Given the description of an element on the screen output the (x, y) to click on. 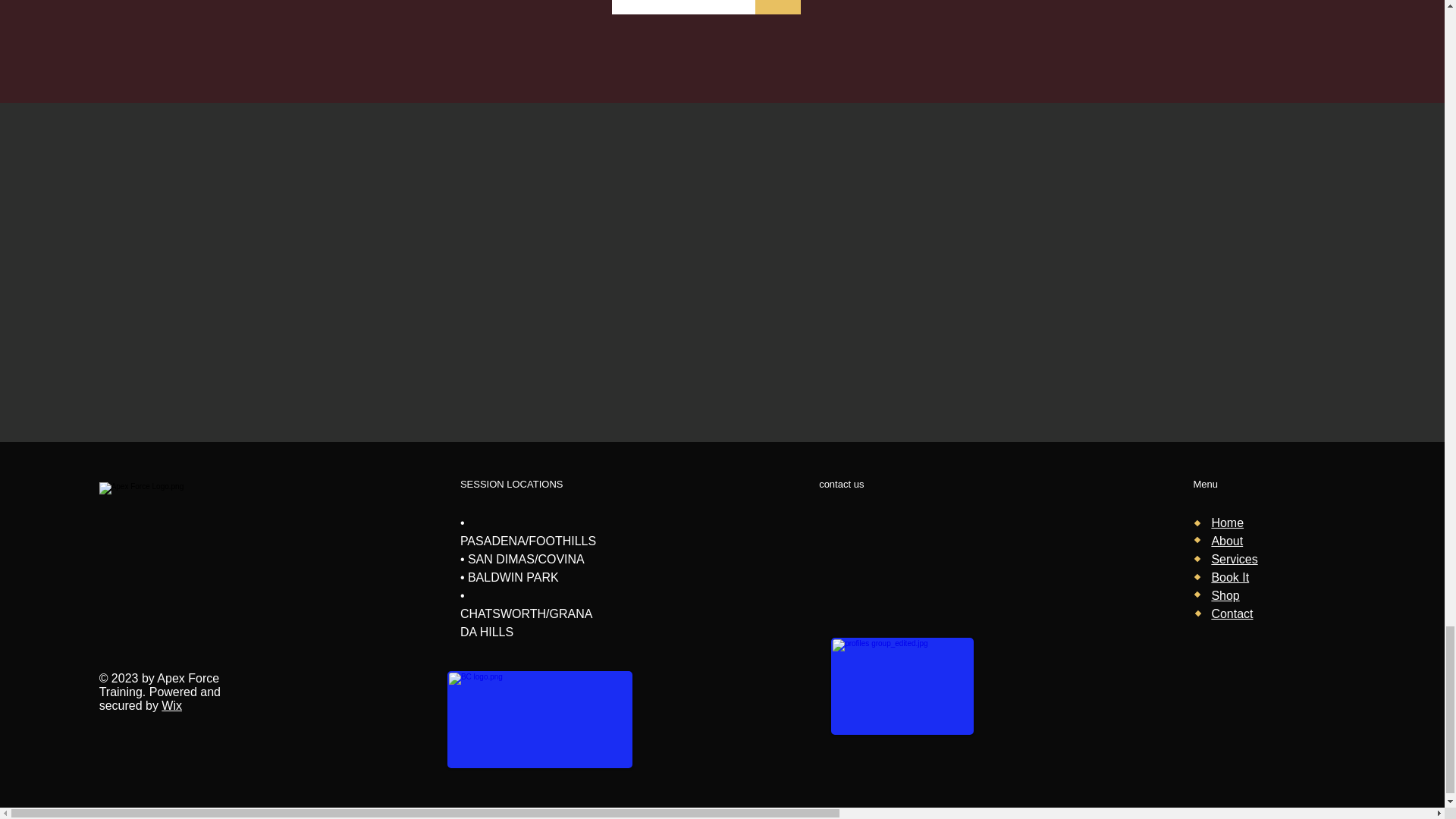
Contact (1231, 613)
Services (1234, 558)
Apex Force Training Logo.png (175, 501)
About (1227, 540)
learn more (682, 7)
Shop (1225, 594)
Wix (171, 705)
Book It (1230, 576)
Home (1227, 522)
